Given the description of an element on the screen output the (x, y) to click on. 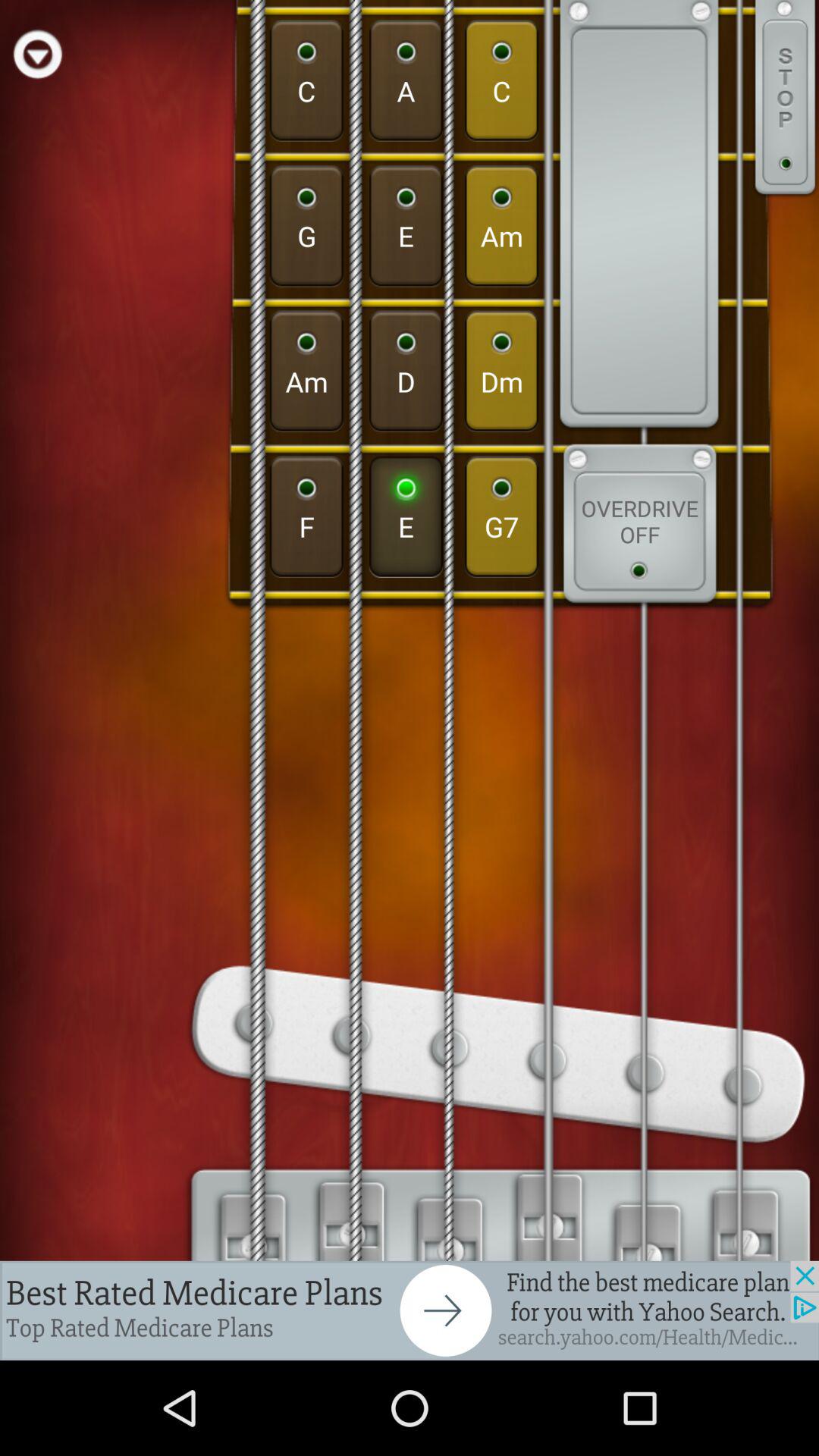
stop playing (785, 99)
